Given the description of an element on the screen output the (x, y) to click on. 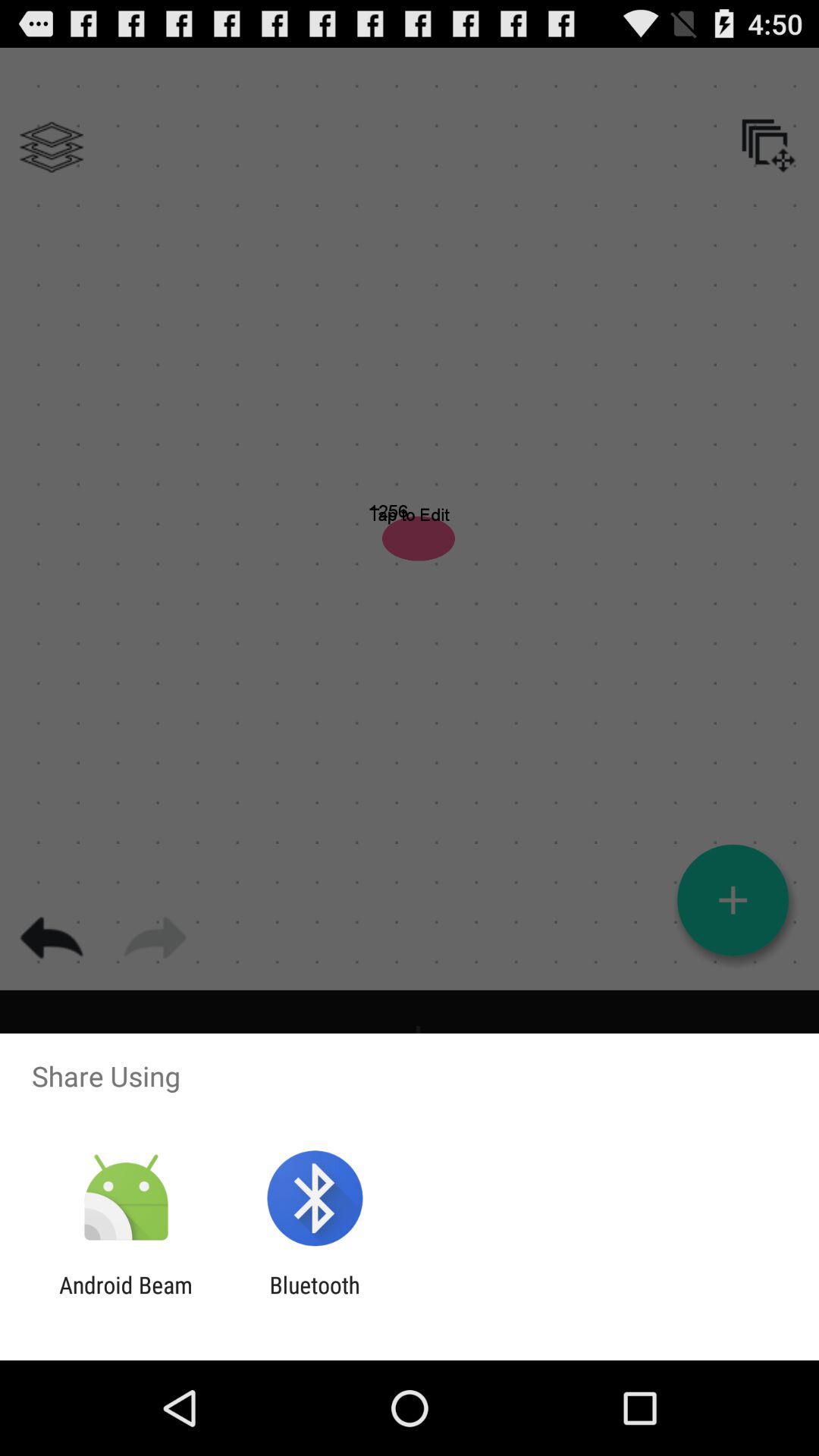
press icon to the left of bluetooth item (125, 1298)
